Given the description of an element on the screen output the (x, y) to click on. 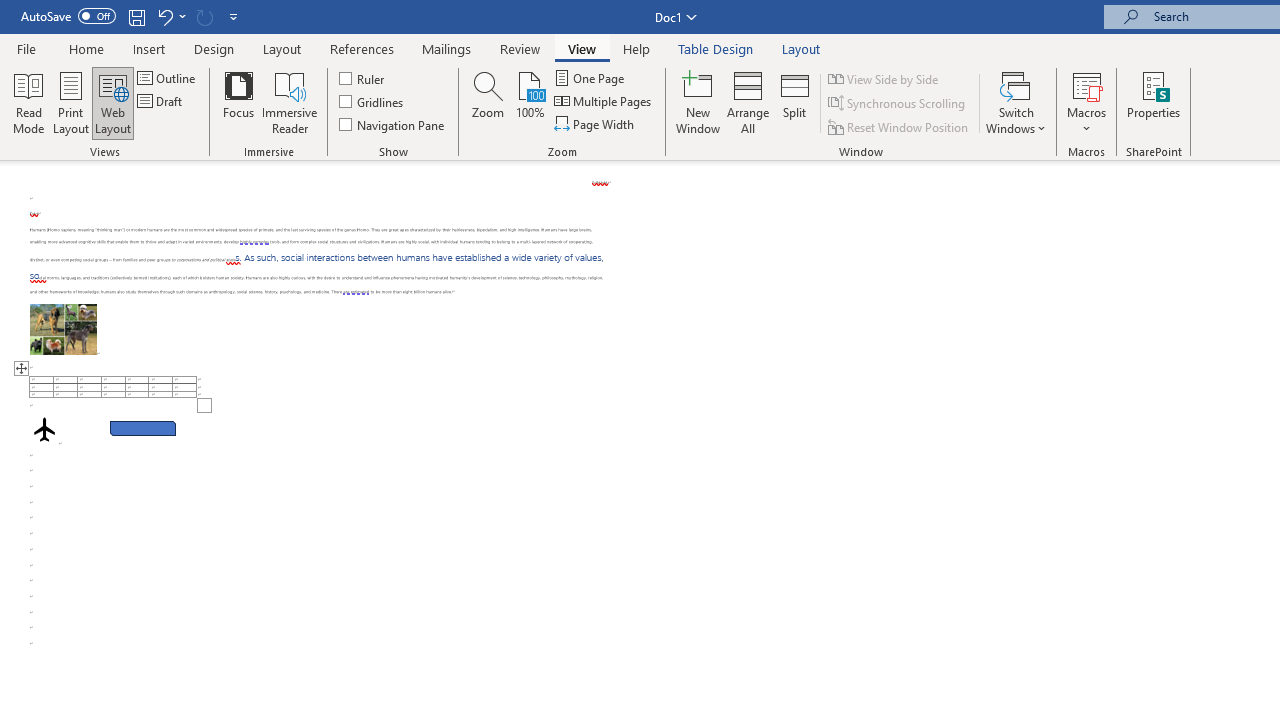
Focus (238, 102)
Reset Window Position (900, 126)
Zoom... (488, 102)
One Page (590, 78)
Page Width (595, 124)
Undo Row Height Spinner (170, 15)
Split (795, 102)
Switch Windows (1016, 102)
Macros (1086, 102)
Rectangle: Diagonal Corners Snipped 2 (143, 428)
Can't Repeat (204, 15)
